Given the description of an element on the screen output the (x, y) to click on. 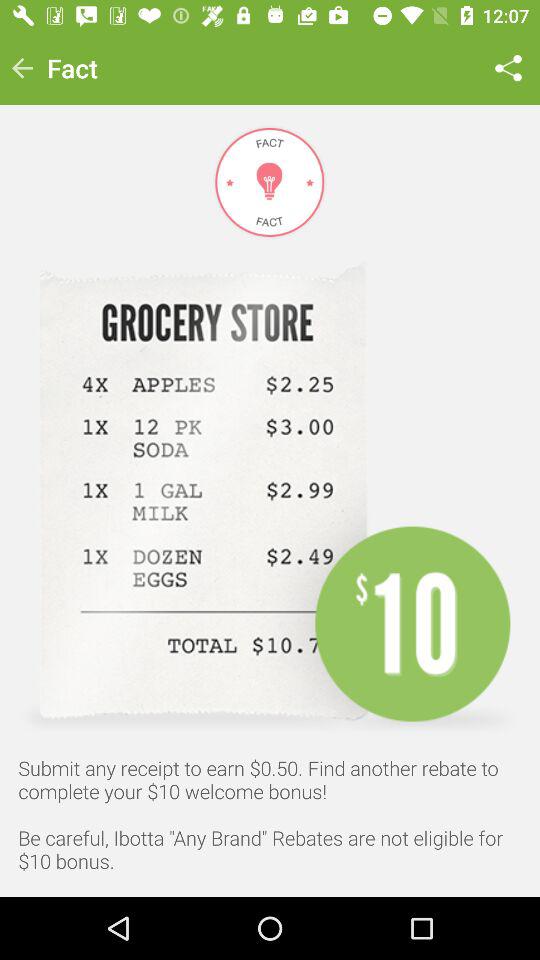
turn off the icon at the top right corner (508, 67)
